Given the description of an element on the screen output the (x, y) to click on. 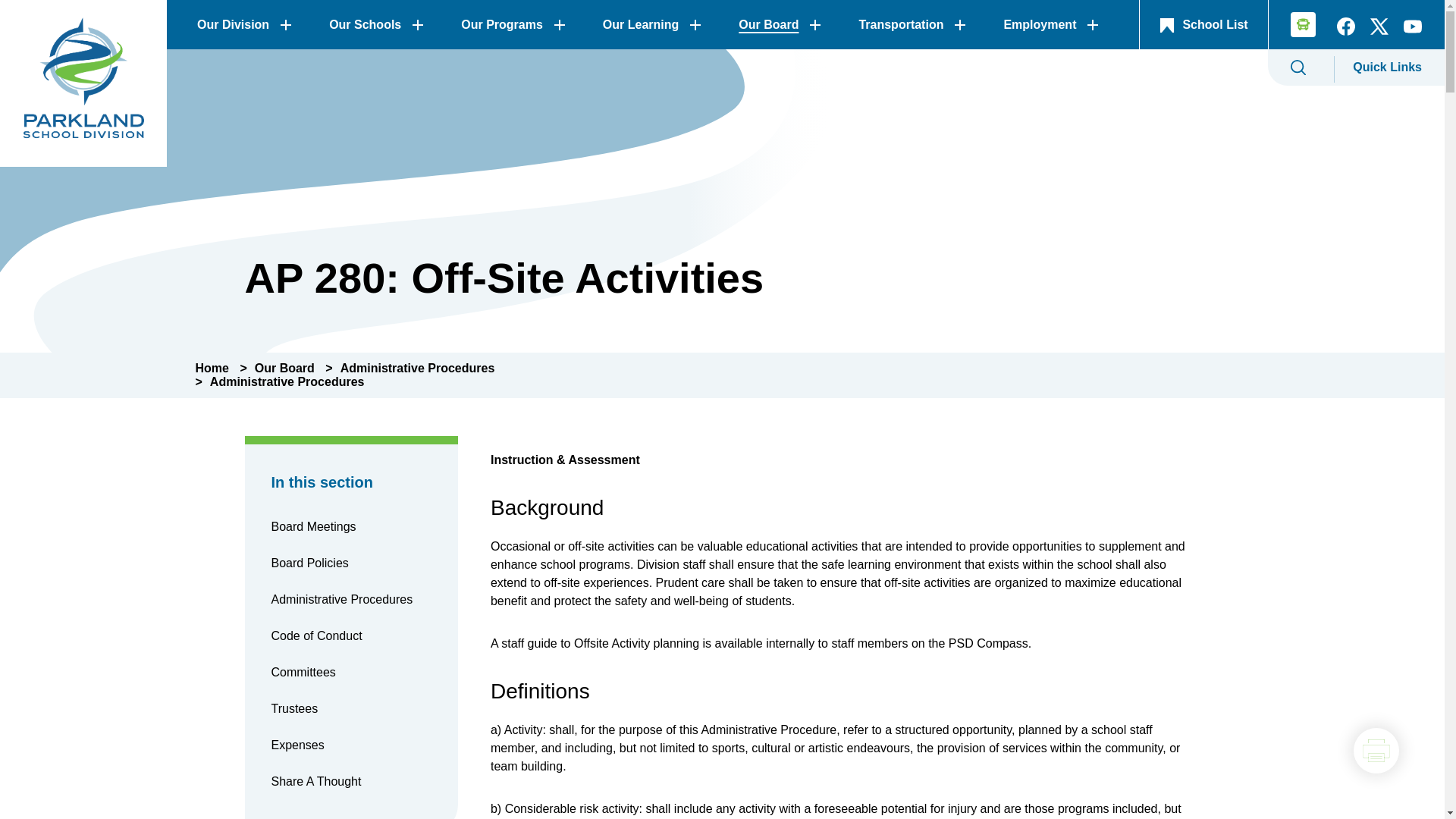
Bus Status (1298, 27)
Parkland School Division (83, 83)
Facebook (1345, 30)
Youtube (1412, 30)
Twitter (1379, 30)
